Given the description of an element on the screen output the (x, y) to click on. 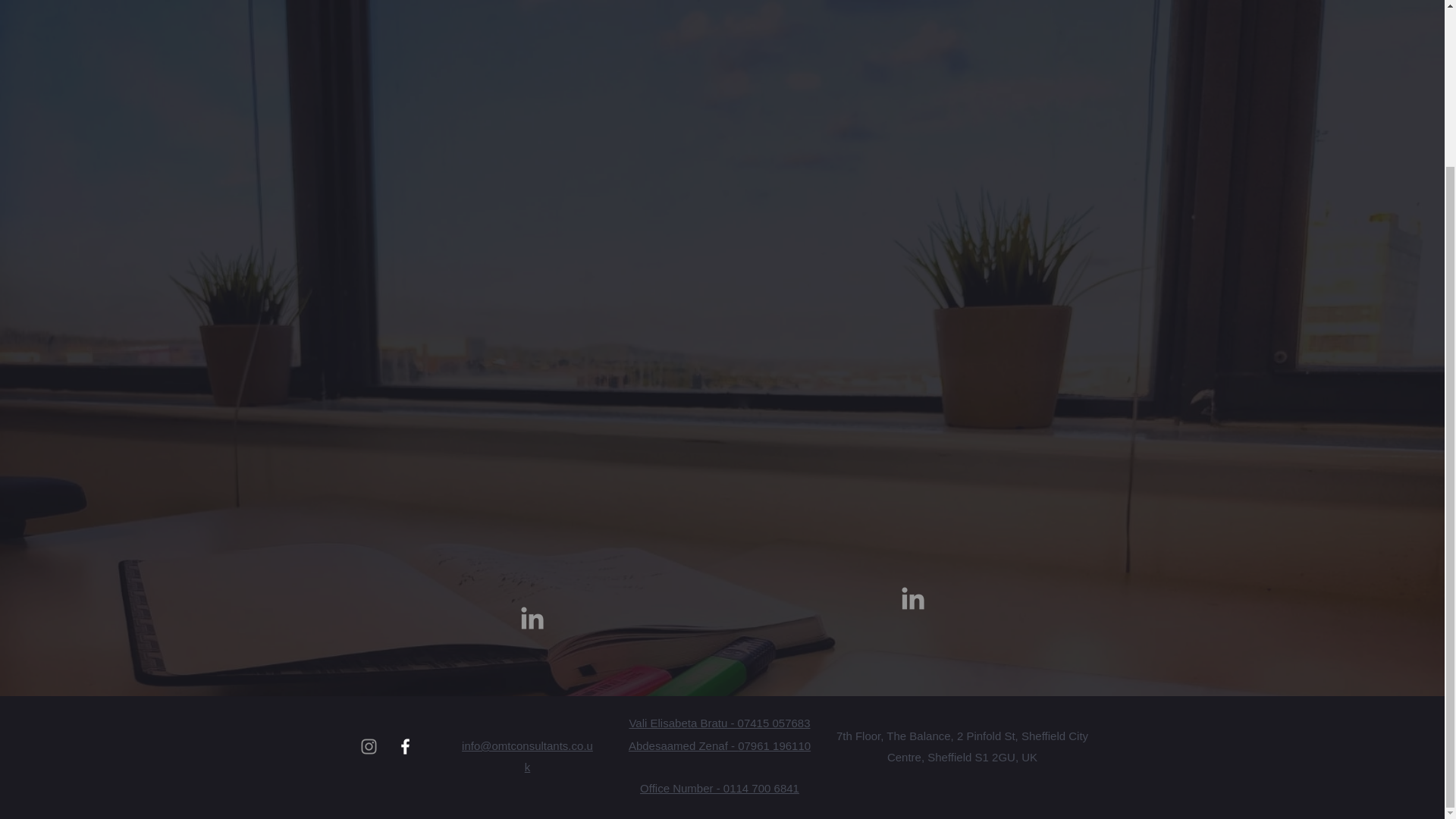
Abdesaamed Zenaf - (683, 745)
07961 196110 (774, 745)
Vali Elisabeta Bratu - 07415 057683 (718, 722)
Office Number - 0114 700 6841 (719, 788)
